Given the description of an element on the screen output the (x, y) to click on. 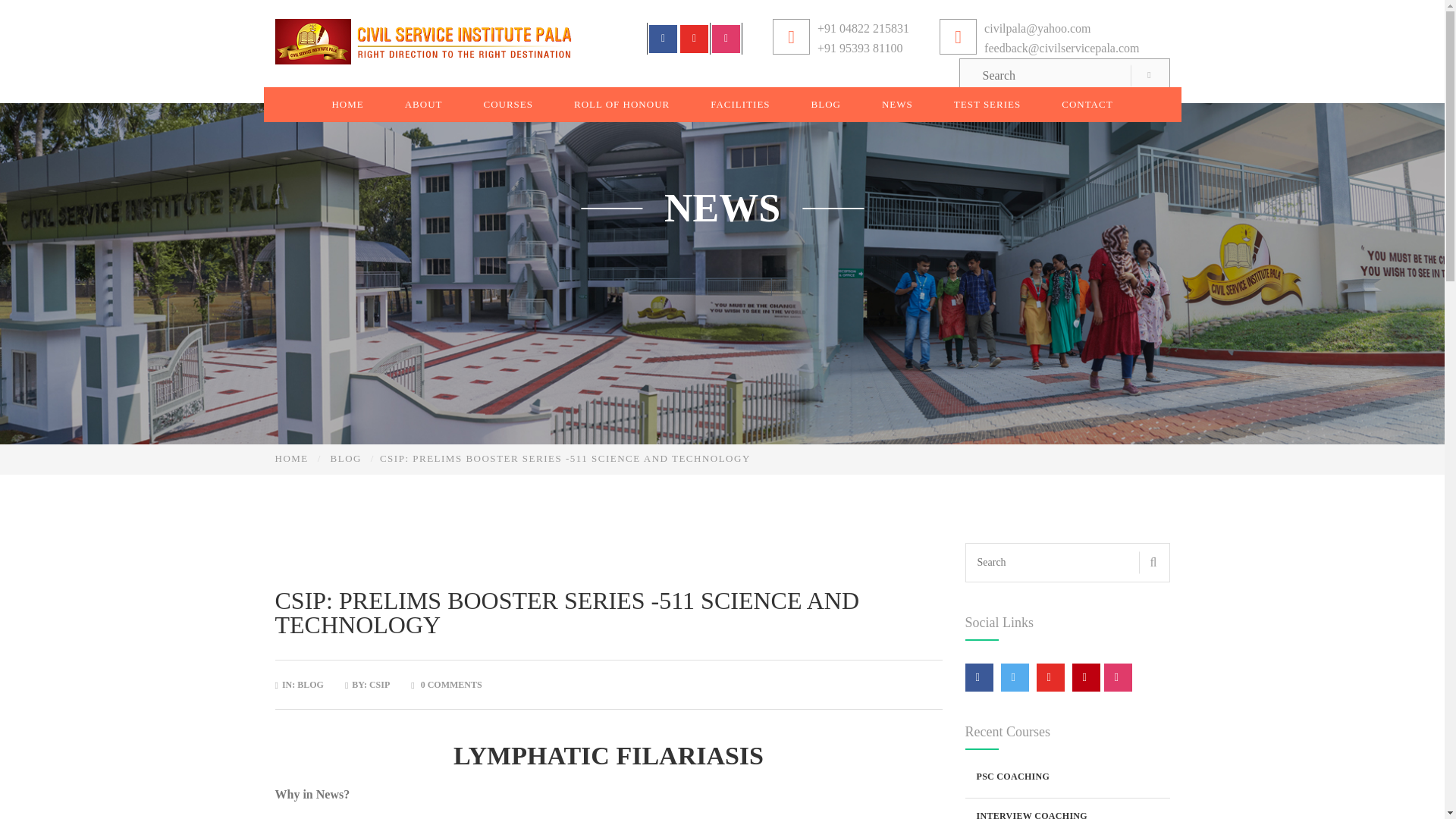
Posts by CSIP (379, 684)
